Given the description of an element on the screen output the (x, y) to click on. 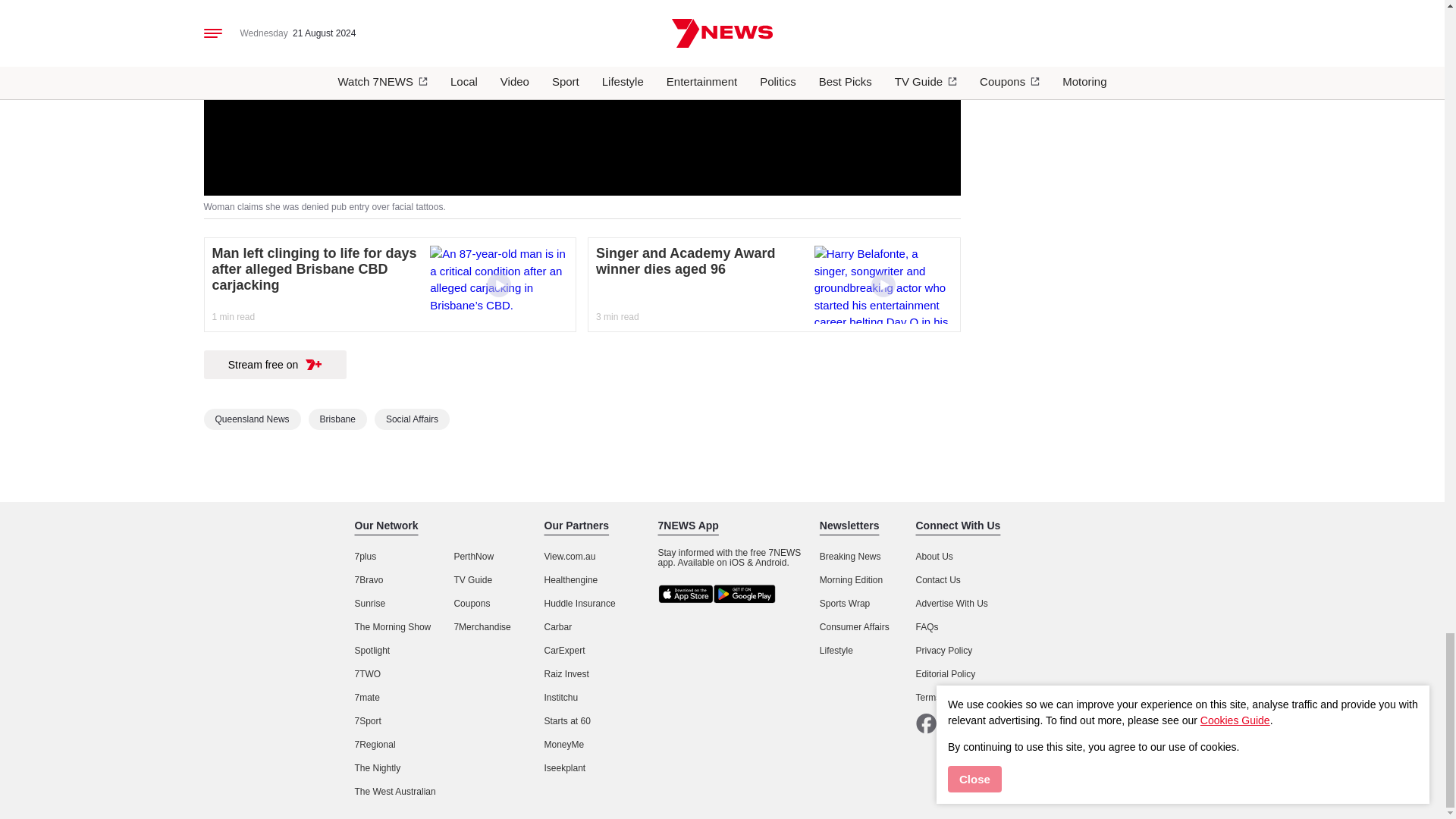
Video (882, 284)
Play Video (581, 4)
Video (498, 284)
